Given the description of an element on the screen output the (x, y) to click on. 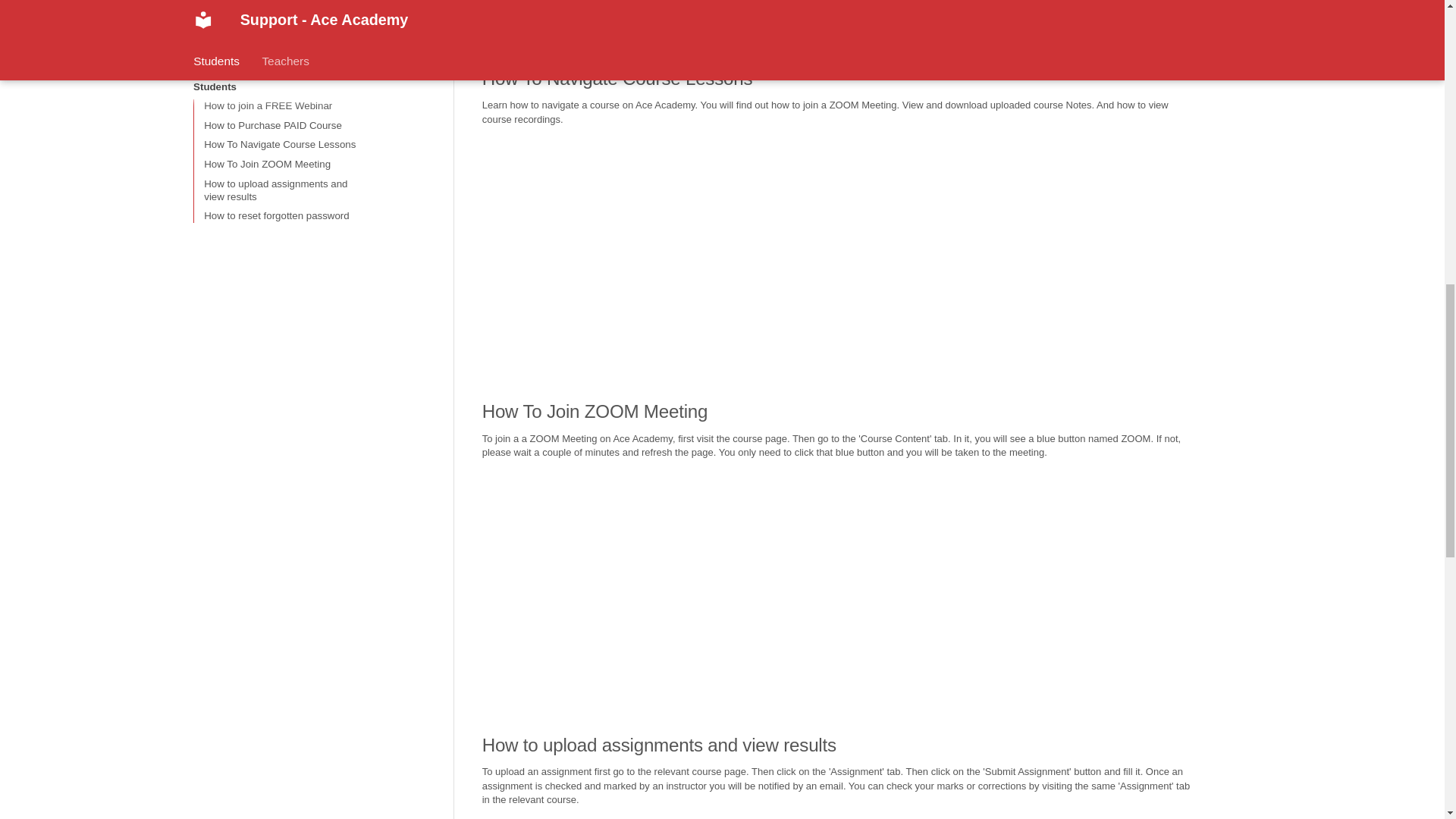
YouTube video player (690, 251)
YouTube video player (690, 584)
YouTube video player (690, 18)
